Given the description of an element on the screen output the (x, y) to click on. 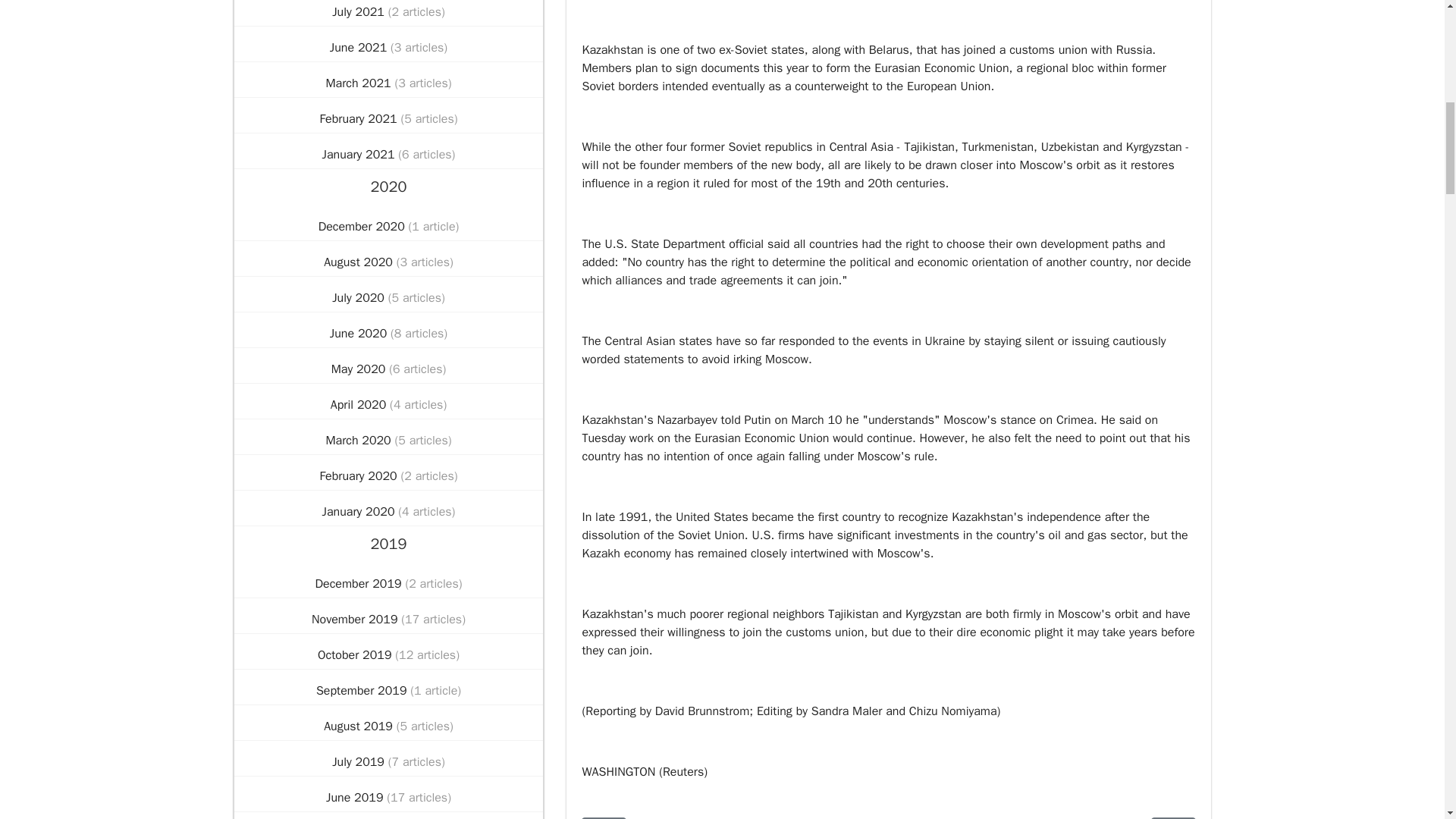
February 2021 (359, 118)
July 2020 (359, 298)
July 2021 (359, 12)
June 2021 (360, 47)
May 2020 (359, 369)
March 2020 (359, 440)
April 2020 (360, 404)
December 2020 (363, 226)
January 2021 (359, 154)
June 2020 (360, 333)
